Given the description of an element on the screen output the (x, y) to click on. 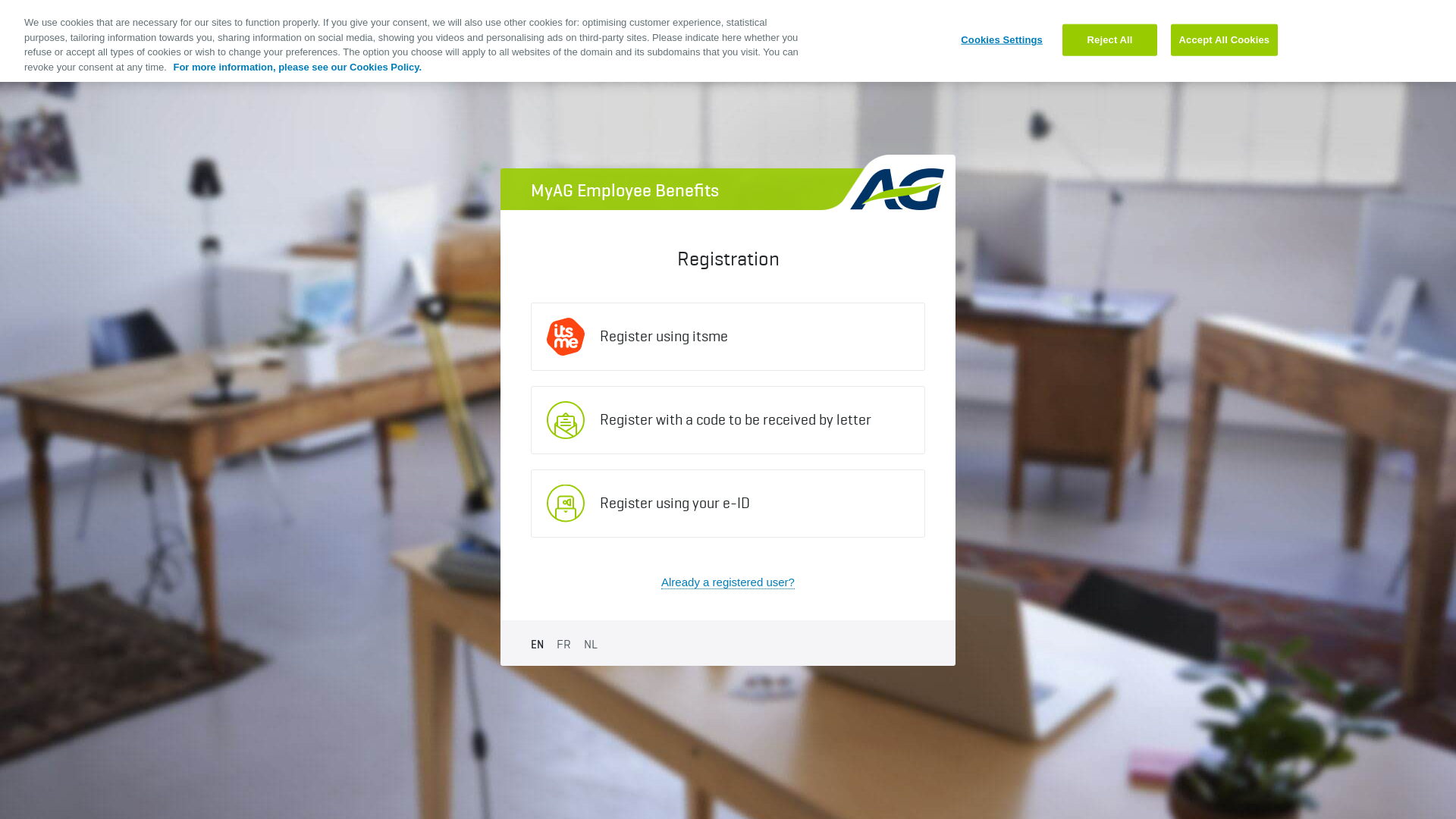
Already a registered user? Element type: text (727, 582)
Reject All Element type: text (1109, 40)
For more information, please see our Cookies Policy. Element type: text (296, 66)
NL Element type: text (590, 643)
Register using your e-ID Element type: text (727, 503)
Register with a code to be received by letter Element type: text (727, 419)
MyAG Employee Benefits Element type: text (727, 189)
Accept All Cookies Element type: text (1224, 40)
EN Element type: text (536, 644)
FR Element type: text (563, 643)
Register using itsme Element type: text (727, 336)
Cookies Settings Element type: text (1001, 40)
